Given the description of an element on the screen output the (x, y) to click on. 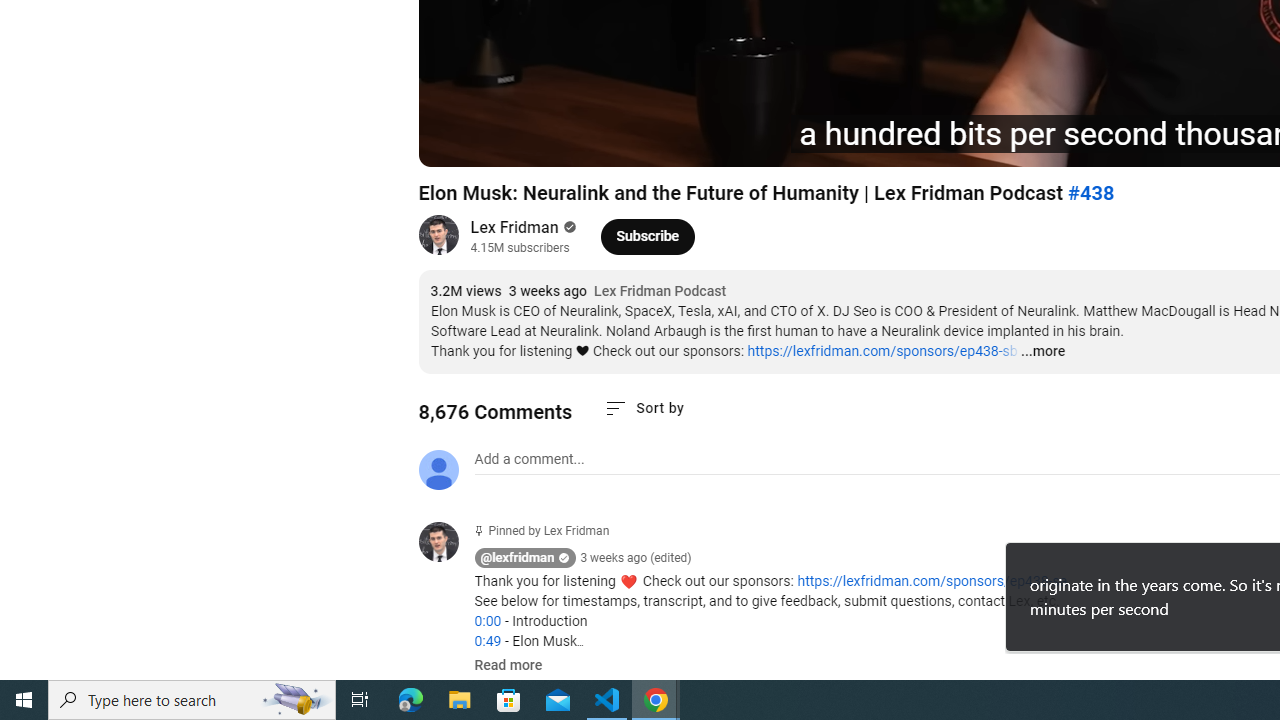
Elon Musk (708, 142)
#438 (1090, 193)
Mute (m) (548, 142)
Lex Fridman (514, 227)
Read more (507, 665)
0:49 (487, 641)
...more (1042, 352)
https://lexfridman.com/sponsors/ep438-sa (932, 581)
3 weeks ago (edited) (635, 557)
0:00 (487, 621)
https://lexfridman.com/sponsors/ep438-sb (882, 351)
@lexfridman (517, 557)
Sort comments (644, 408)
